Given the description of an element on the screen output the (x, y) to click on. 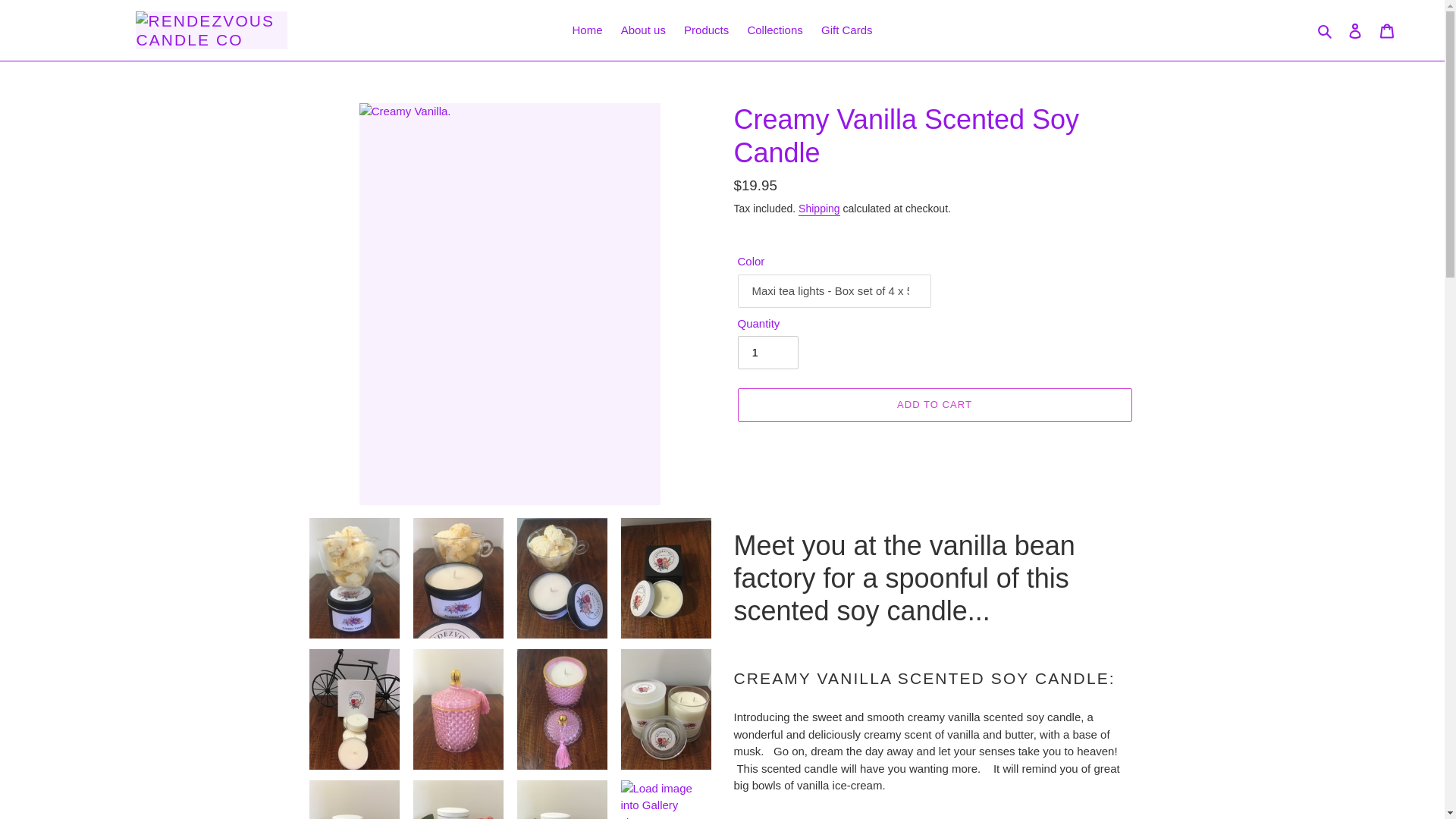
Gift Cards (846, 30)
Home (587, 30)
About us (642, 30)
Log in (1355, 30)
Cart (1387, 30)
Search (1326, 30)
Collections (774, 30)
Products (706, 30)
Shipping (818, 209)
ADD TO CART (933, 404)
1 (766, 352)
